Given the description of an element on the screen output the (x, y) to click on. 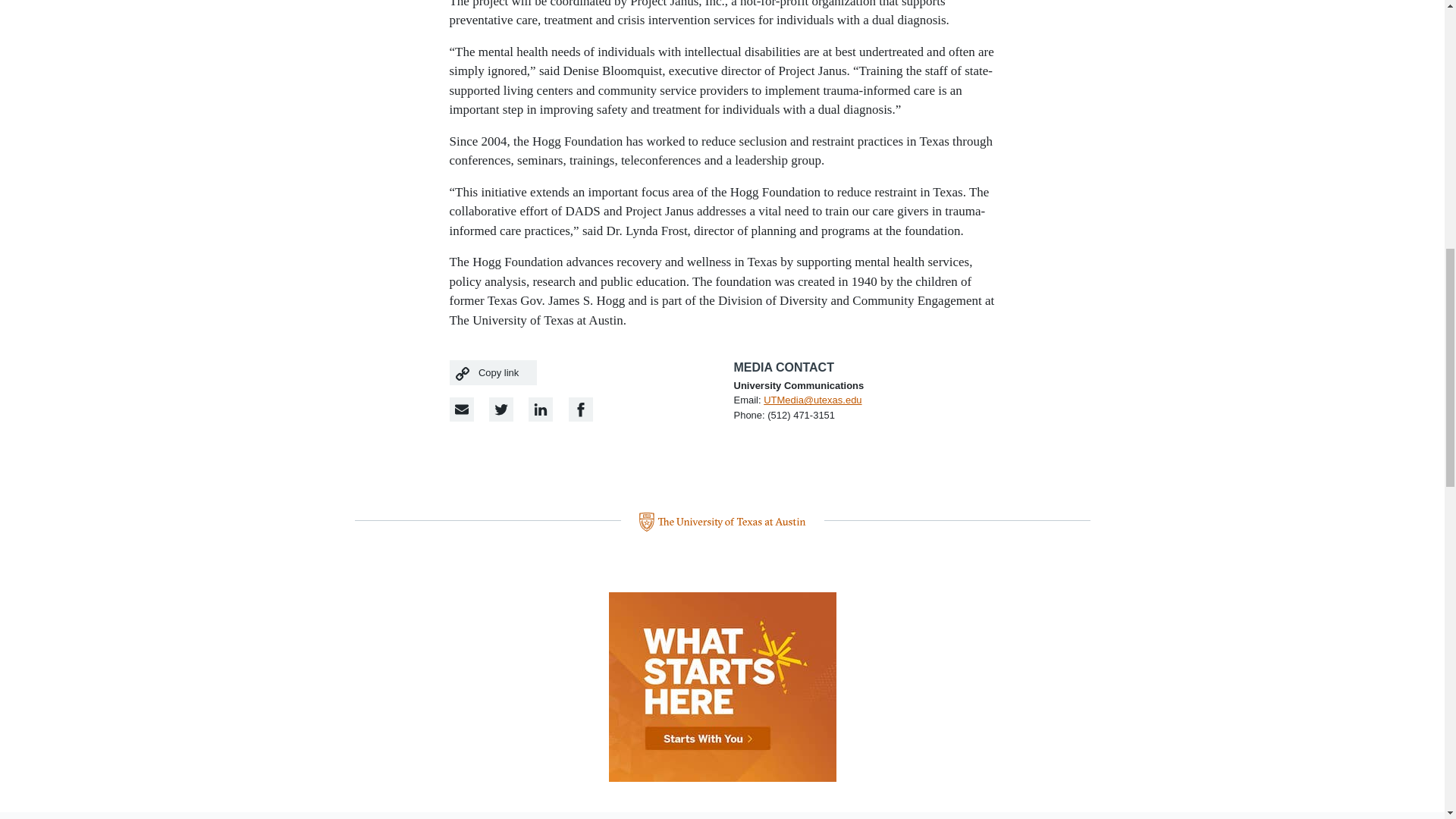
Facebook Share Link (540, 409)
Twitter Share Link (501, 409)
Email Share Link (460, 409)
Copy link (492, 372)
